Given the description of an element on the screen output the (x, y) to click on. 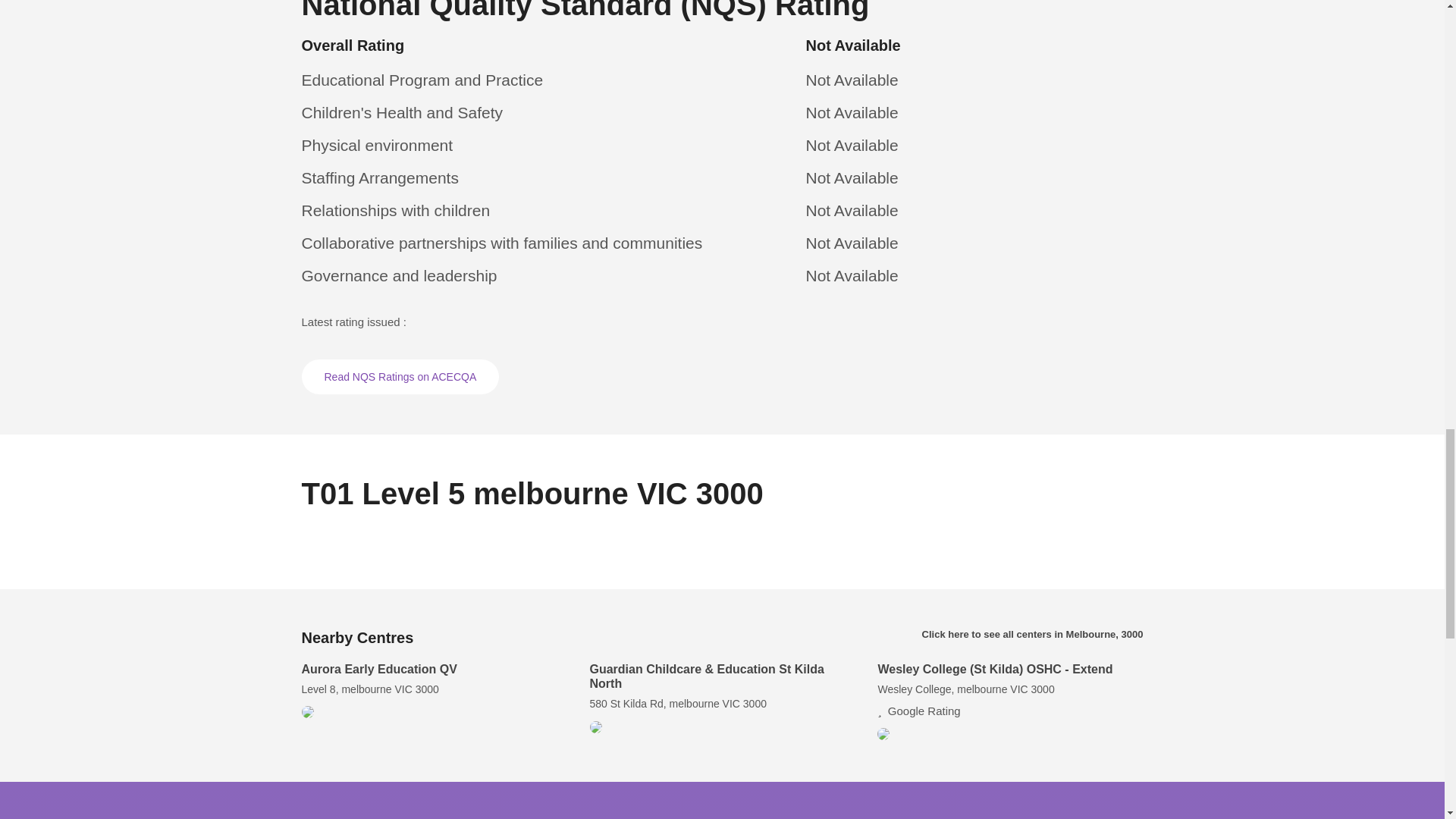
Click here to see all centers in Melbourne, 3000 (1031, 633)
Aurora Early Education QV (379, 668)
Read NQS Ratings on ACECQA (400, 376)
